Given the description of an element on the screen output the (x, y) to click on. 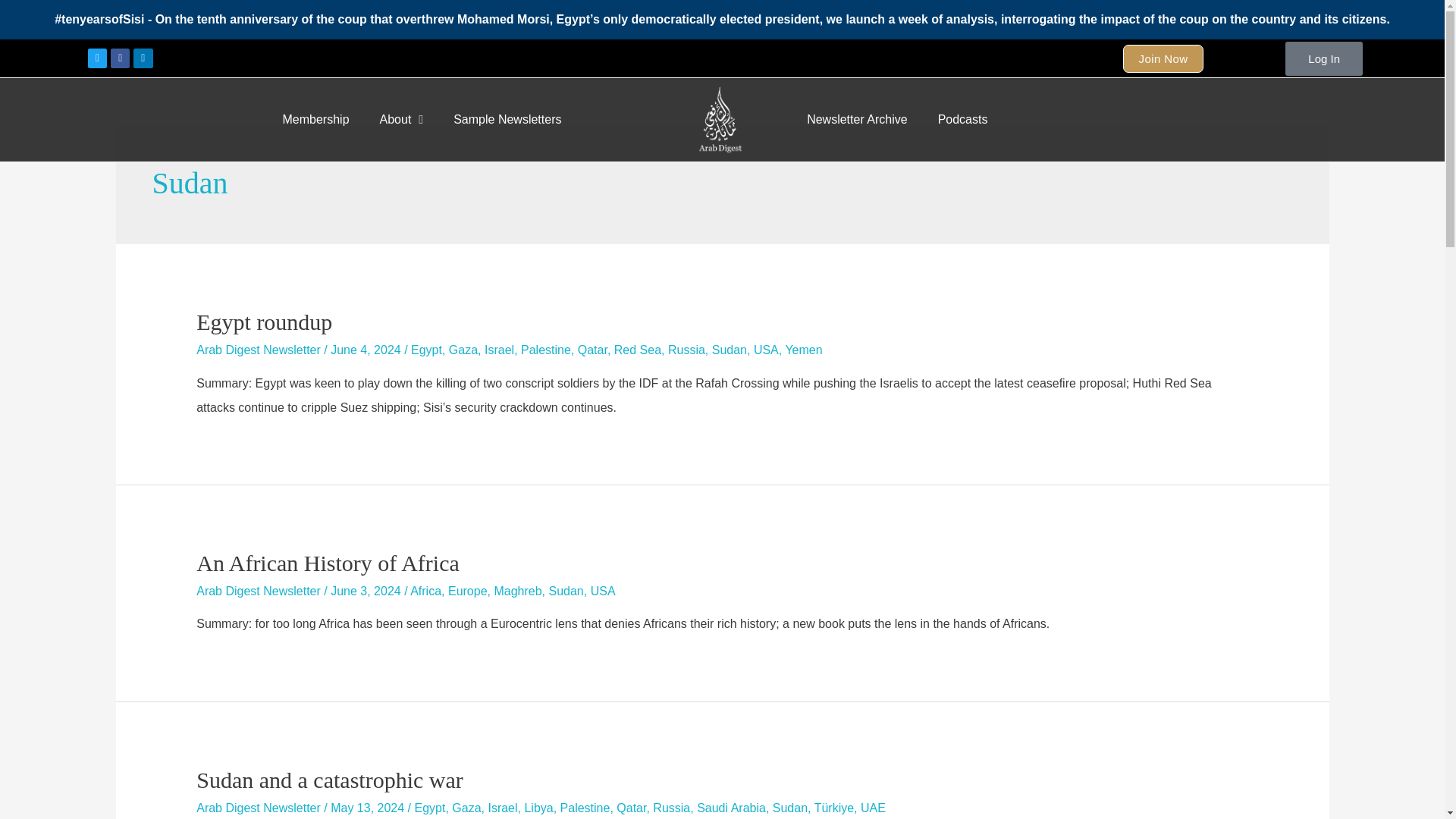
Arab Digest Newsletter (258, 590)
Join Now (1163, 58)
Sudan (728, 349)
Gaza (462, 349)
Egypt roundup (263, 321)
Log In (1323, 57)
Red Sea (637, 349)
Newsletter Archive (857, 119)
Podcasts (963, 119)
An African History of Africa (328, 562)
Egypt (426, 349)
Africa (425, 590)
Sample Newsletters (507, 119)
Yemen (803, 349)
Russia (686, 349)
